Given the description of an element on the screen output the (x, y) to click on. 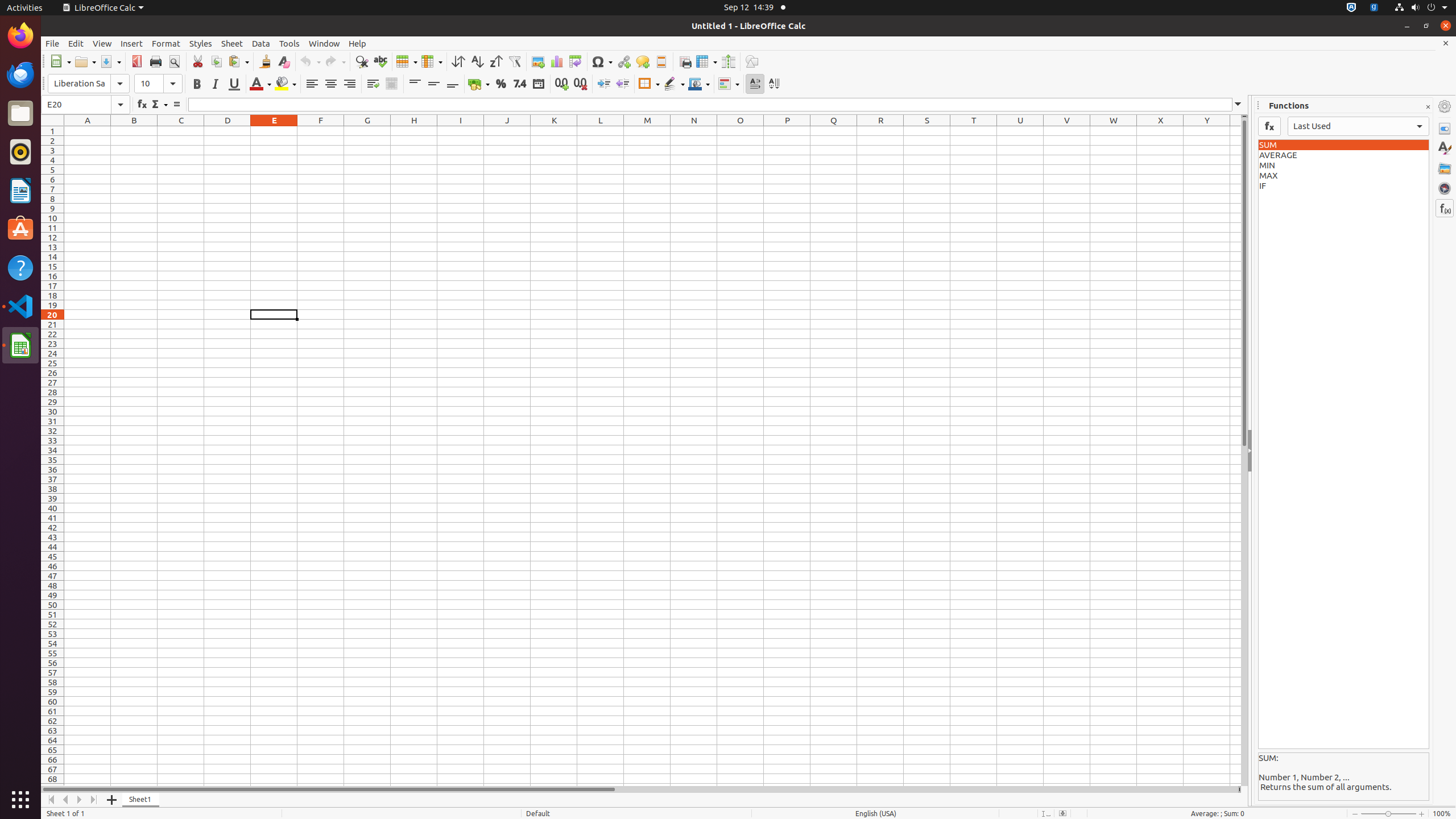
Print Area Element type: push-button (684, 61)
Sheet1 Element type: page-tab (140, 799)
Vertical scroll bar Element type: scroll-bar (1244, 451)
Sheet Element type: menu (231, 43)
S1 Element type: table-cell (926, 130)
